Given the description of an element on the screen output the (x, y) to click on. 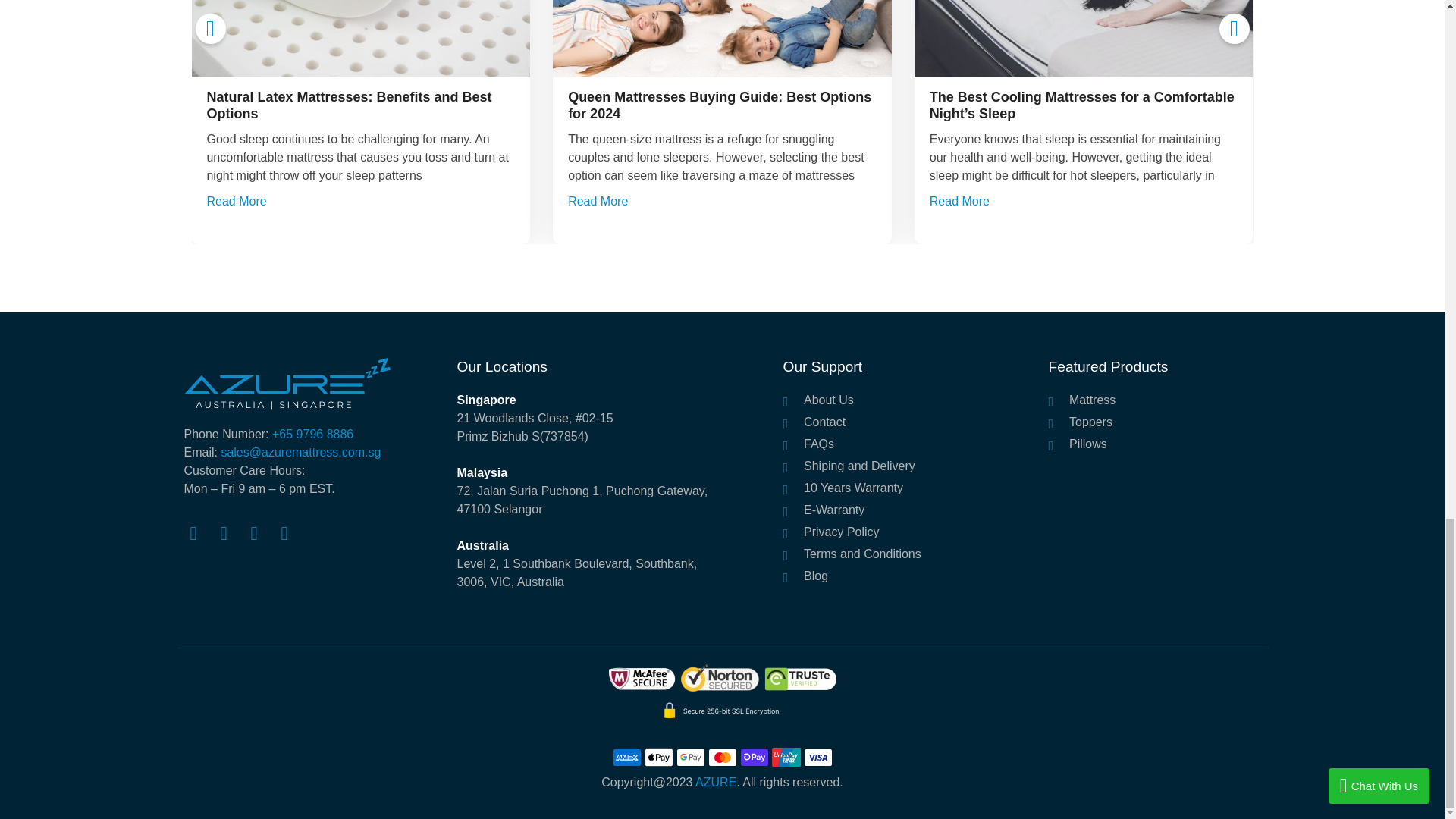
Apple Pay (658, 757)
Mastercard (721, 757)
Visa (817, 757)
American Express (627, 757)
Union Pay (785, 757)
Google Pay (690, 757)
Shop Pay (753, 757)
